Given the description of an element on the screen output the (x, y) to click on. 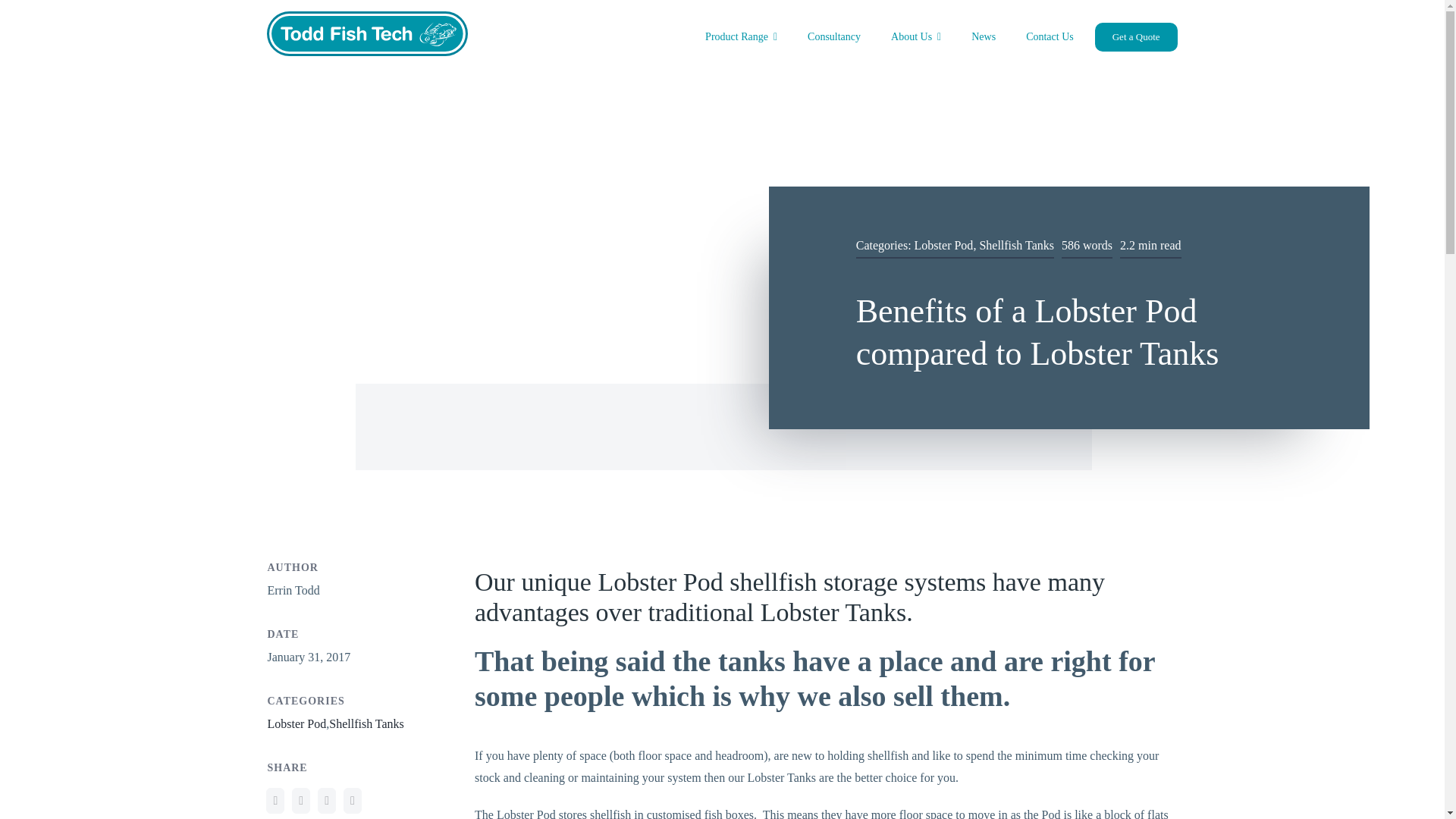
Lobster Pod (296, 723)
Contact Us (1049, 37)
About Us (916, 37)
Lobster Pod (296, 723)
Lobster Pod (944, 245)
Consultancy (833, 37)
Shellfish Tanks (366, 723)
Get a Quote (1135, 37)
Shellfish Tanks (1016, 245)
News (983, 37)
